Given the description of an element on the screen output the (x, y) to click on. 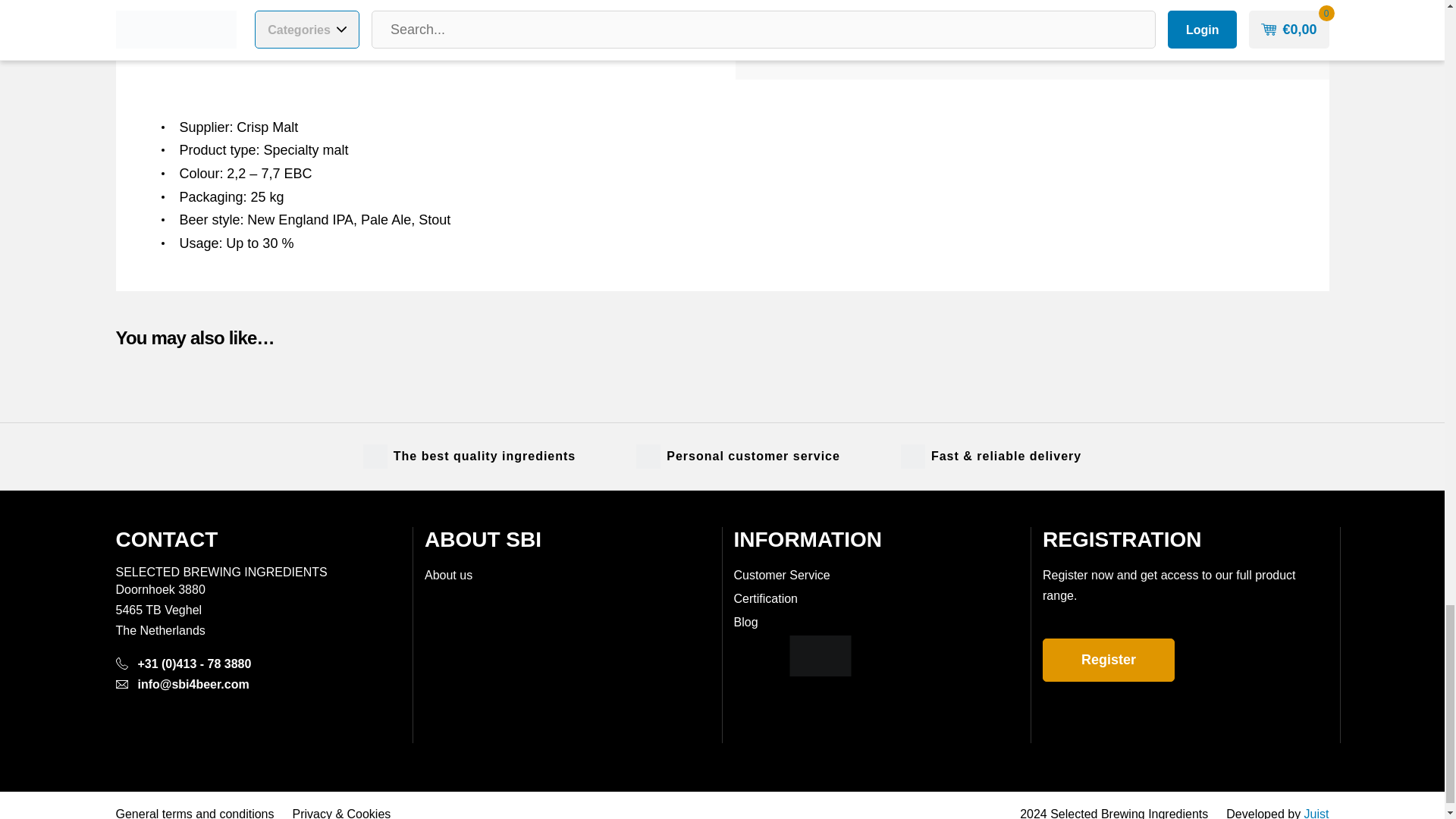
Ontwikkeld door Juist (1316, 813)
